Given the description of an element on the screen output the (x, y) to click on. 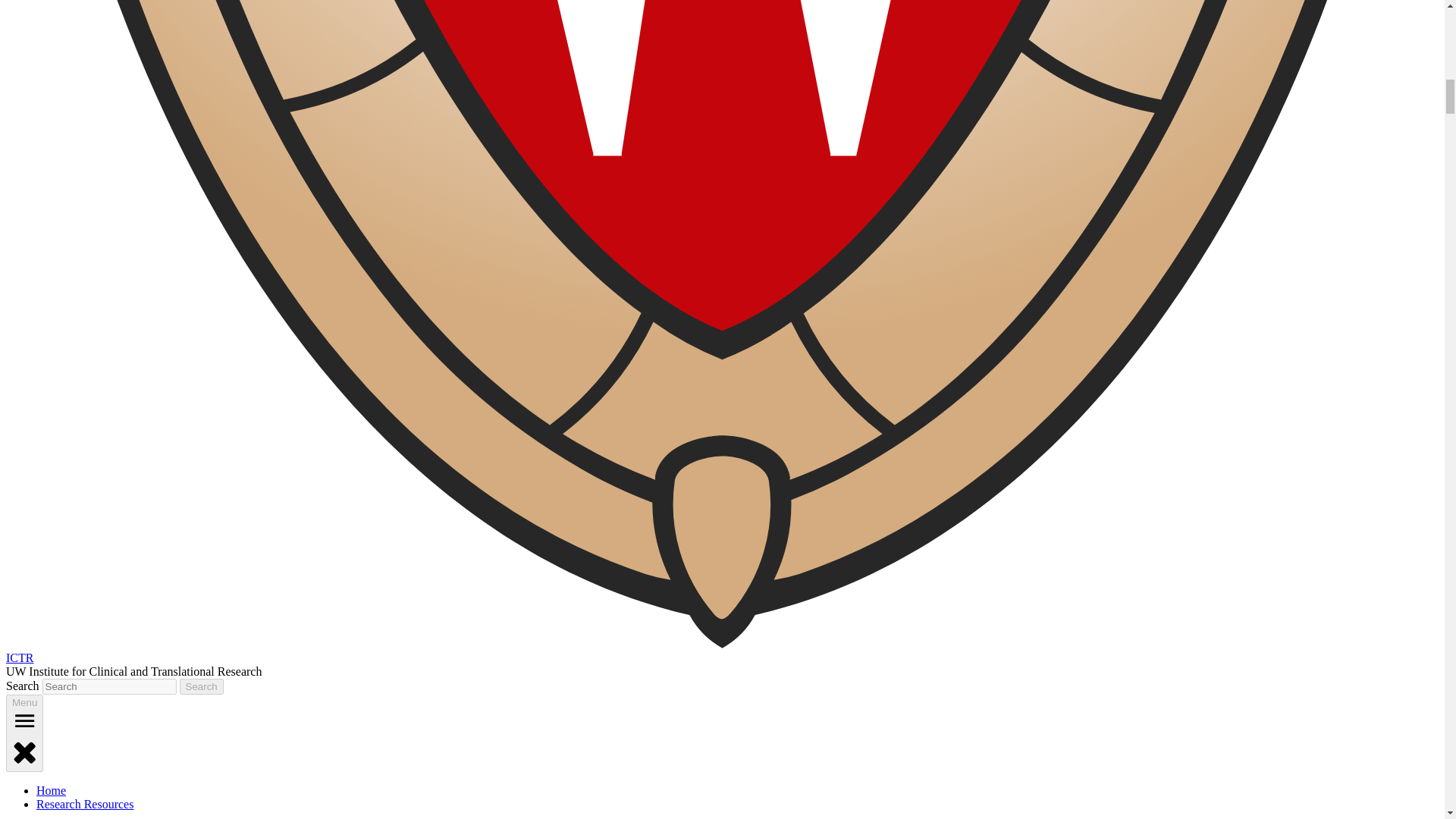
Search (201, 686)
Home (50, 789)
ICTR (19, 657)
open menu (24, 720)
Search (201, 686)
Search (201, 686)
